Given the description of an element on the screen output the (x, y) to click on. 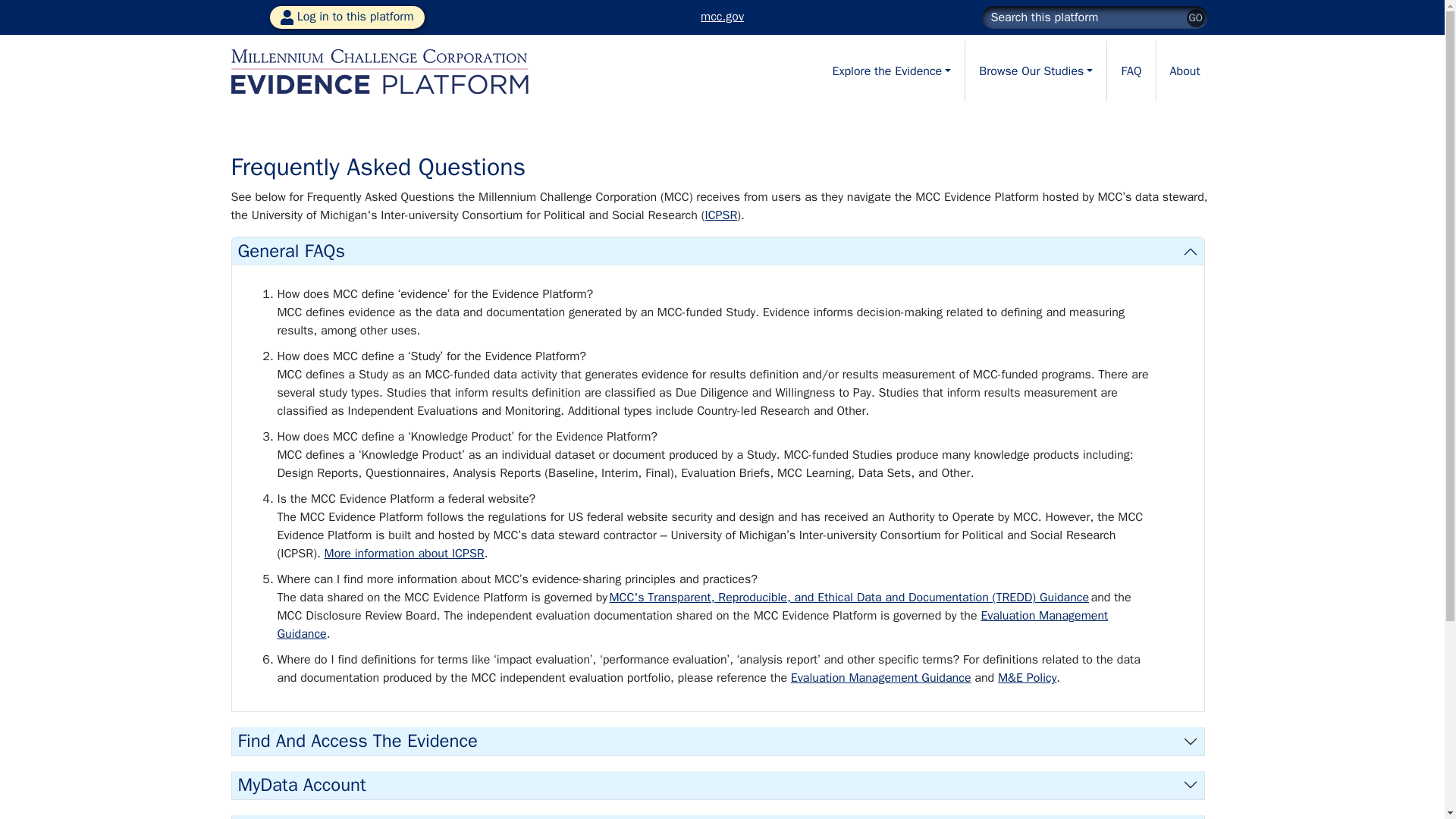
MyData Account (717, 785)
Browse Our Studies (1035, 71)
Evaluation Management Guidance (693, 624)
GO (1195, 18)
About (1185, 71)
FAQ (1131, 71)
ICPSR (720, 215)
General FAQs (717, 251)
Evaluation Management Guidance (880, 677)
Log in to this platform (347, 16)
Find And Access The Evidence (717, 741)
Explore the Evidence (890, 71)
mcc.gov (722, 16)
More information about ICPSR (404, 553)
